Given the description of an element on the screen output the (x, y) to click on. 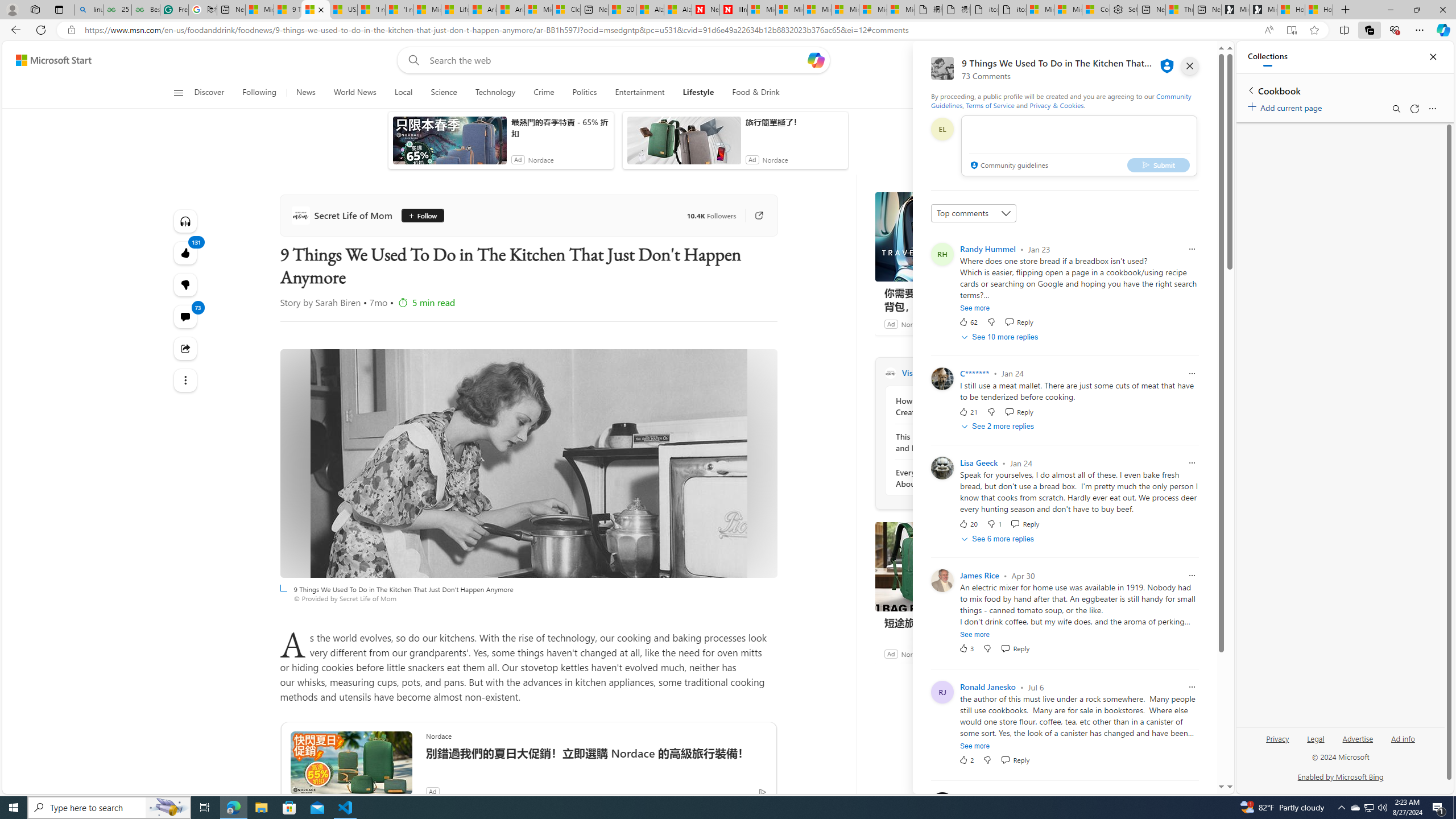
Profile Picture (941, 803)
Newsweek - News, Analysis, Politics, Business, Technology (706, 9)
Consumer Health Data Privacy Policy (1096, 9)
itconcepthk.com/projector_solutions.mp4 (1011, 9)
Illness news & latest pictures from Newsweek.com (733, 9)
